Given the description of an element on the screen output the (x, y) to click on. 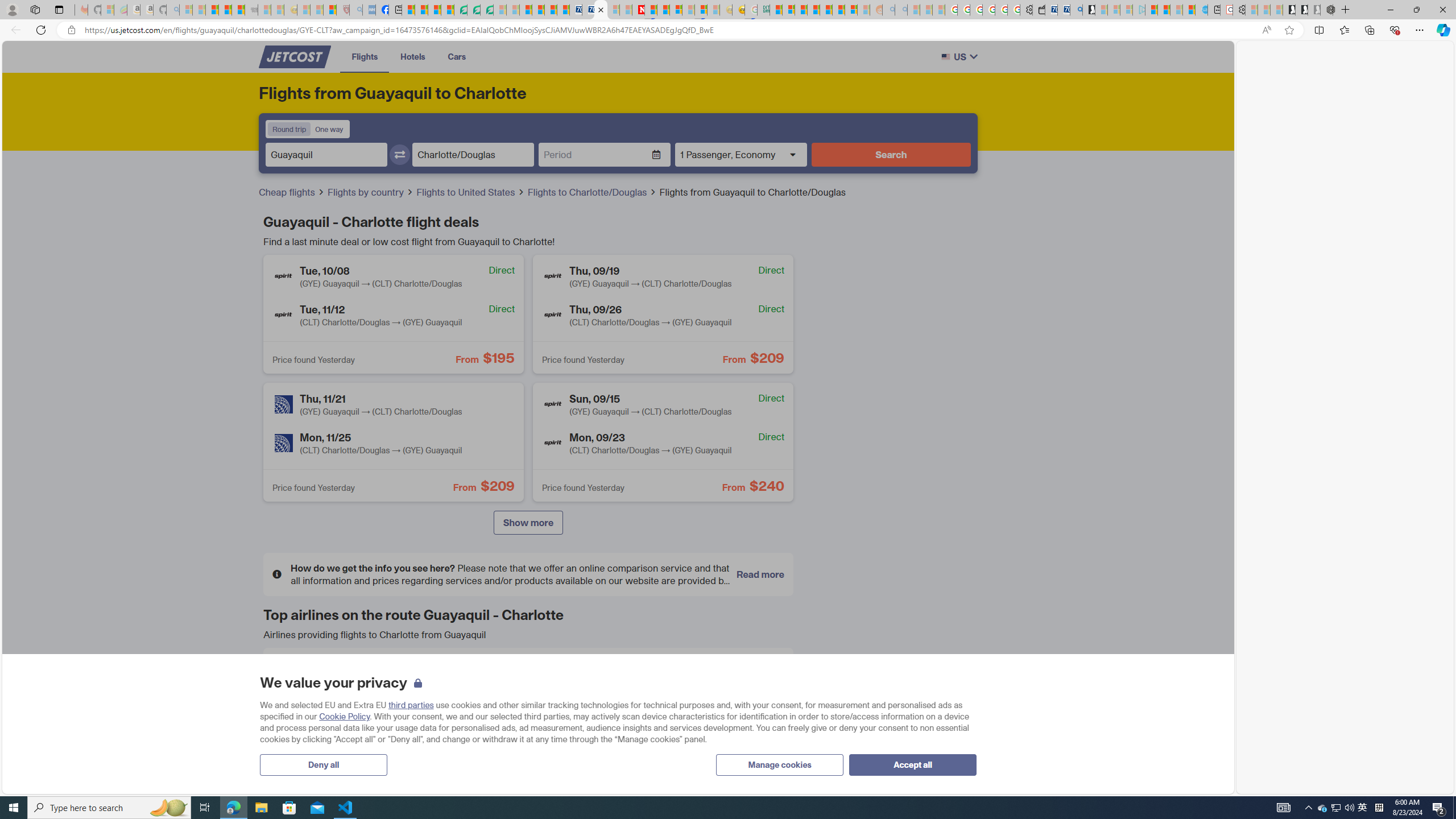
Restore (1416, 9)
third parties (410, 705)
Flights by country (366, 191)
New Report Confirms 2023 Was Record Hot | Watch (237, 9)
Minimize (1390, 9)
Microsoft Start (1150, 9)
Terms and Conditions (504, 623)
Microsoft-Report a Concern to Bing - Sleeping (107, 9)
14 Common Myths Debunked By Scientific Facts (663, 9)
Add this page to favorites (Ctrl+D) (1289, 29)
